Given the description of an element on the screen output the (x, y) to click on. 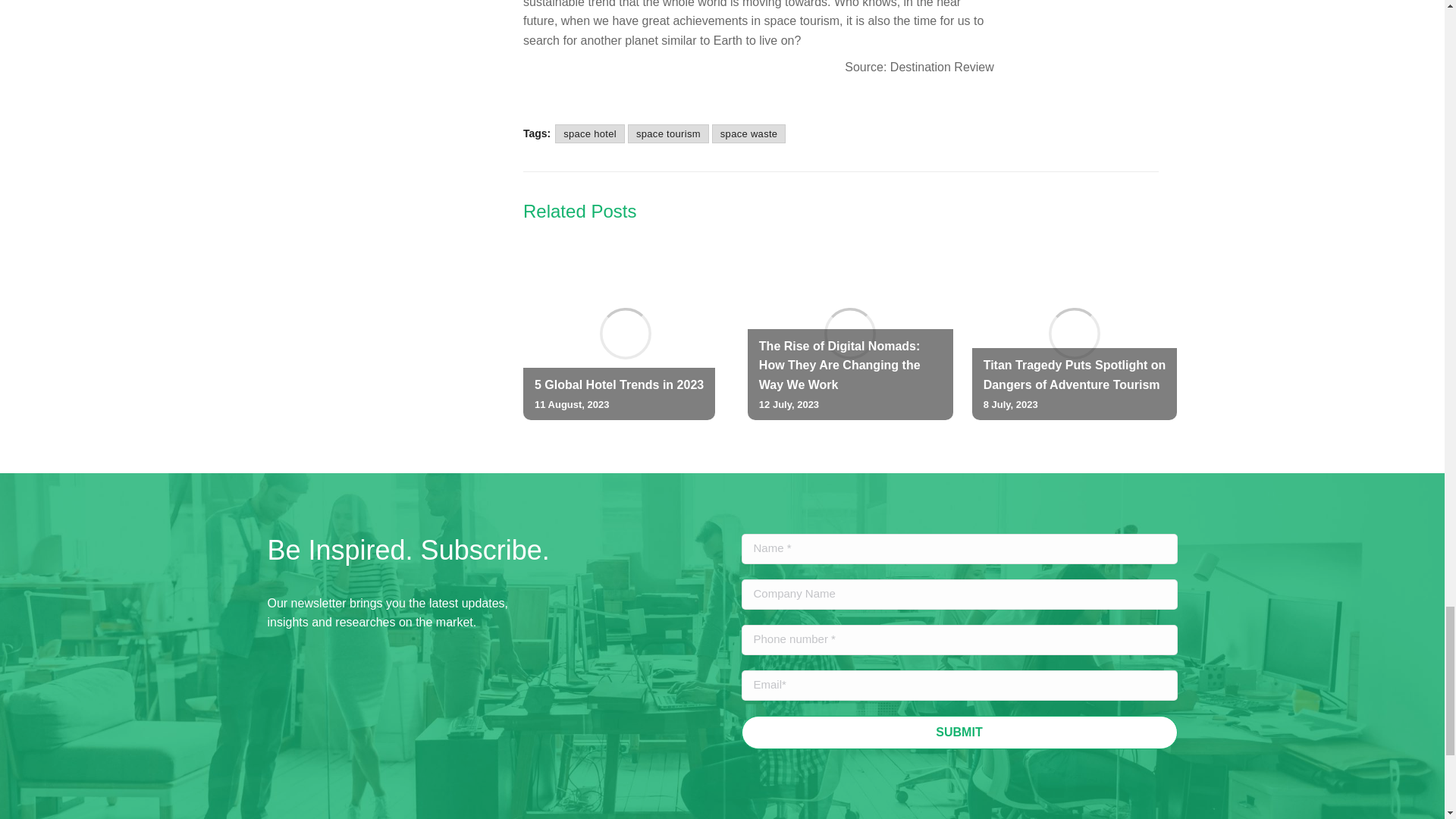
SUBMIT (959, 732)
